Given the description of an element on the screen output the (x, y) to click on. 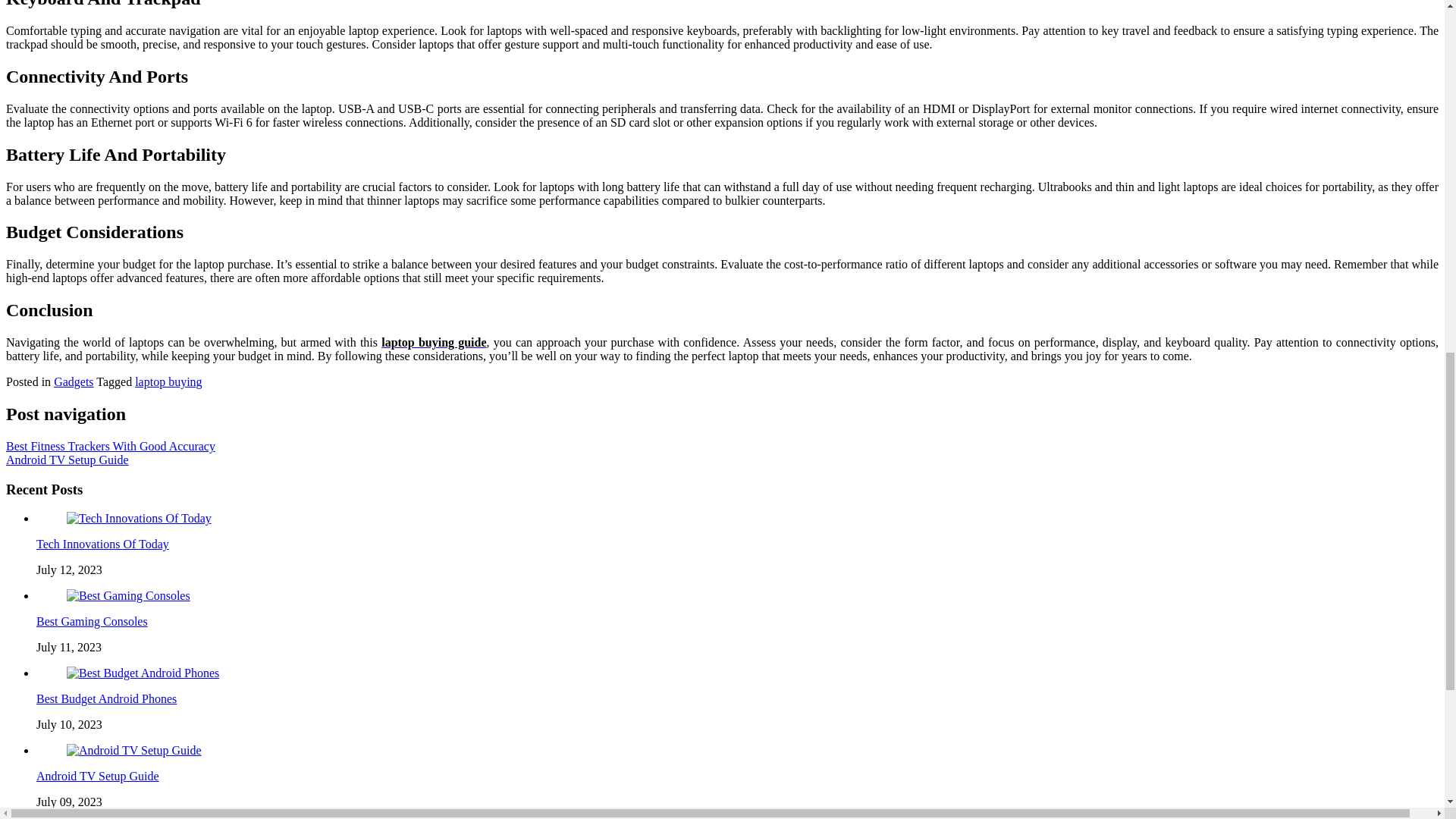
Best Gaming Consoles (128, 595)
Android TV Setup Guide (67, 459)
Tech Innovations Of Today (102, 543)
Best Budget Android Phones (142, 673)
laptop buying (168, 381)
Best Fitness Trackers With Good Accuracy (110, 445)
Gadgets (73, 381)
Tech Innovations Of Today (138, 518)
laptop buying guide (433, 341)
